Given the description of an element on the screen output the (x, y) to click on. 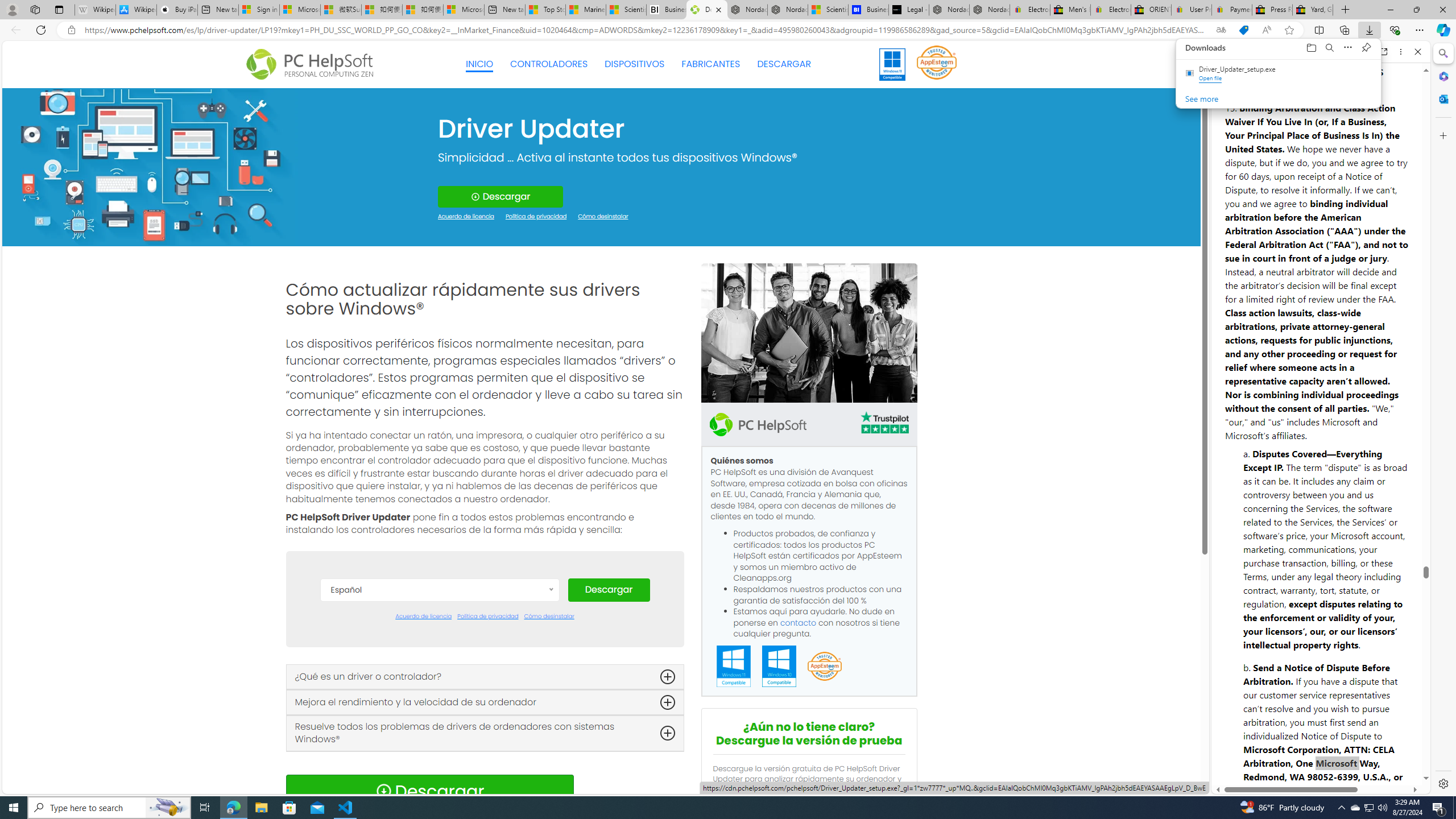
PCHelpsoft (757, 423)
INICIO (479, 64)
Dansk (439, 643)
Norsk (439, 780)
Downloads (1338, 47)
Generic (150, 166)
Open in New Tab (1321, 768)
Deutsch (439, 678)
